Given the description of an element on the screen output the (x, y) to click on. 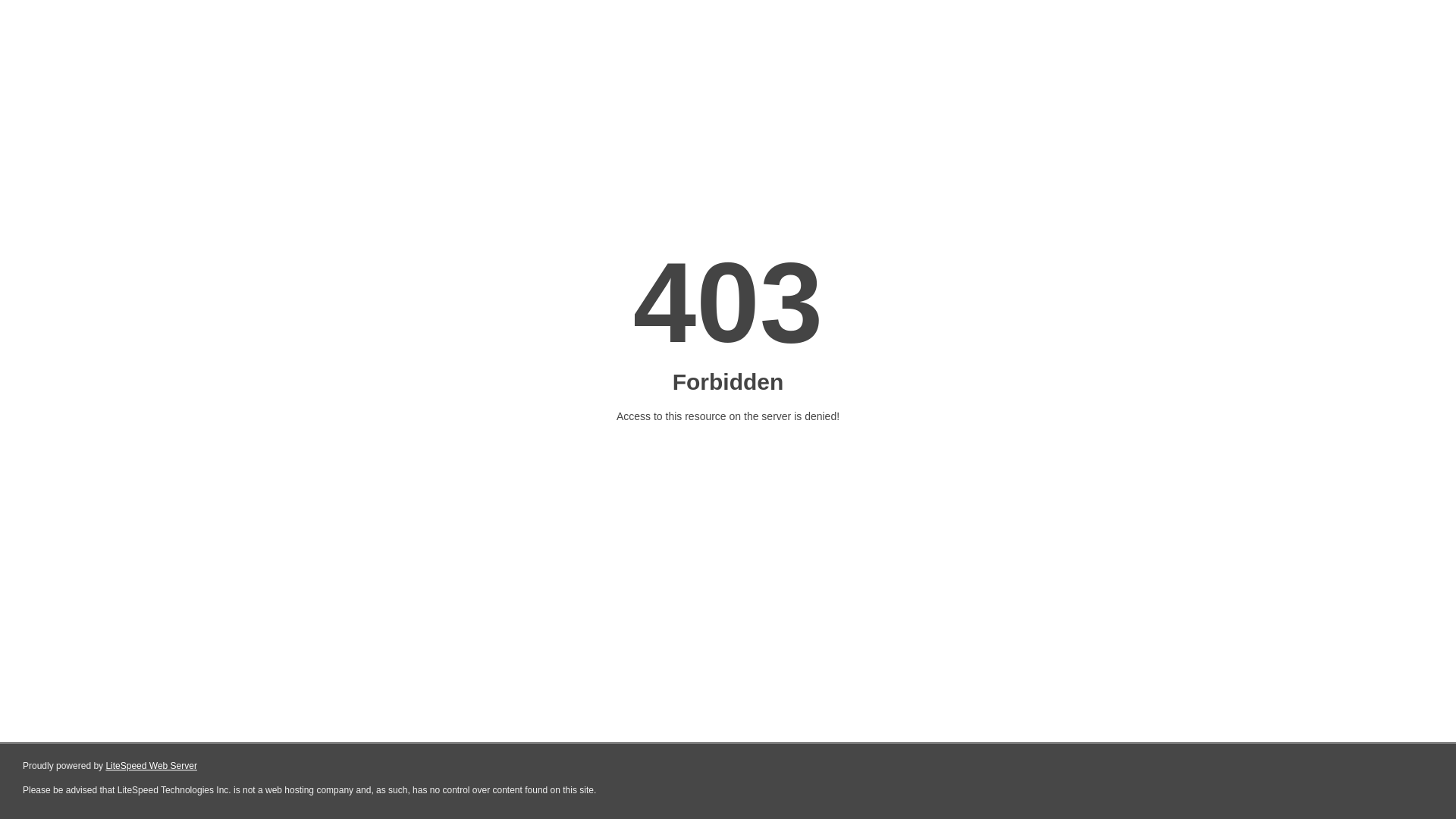
LiteSpeed Web Server Element type: text (151, 765)
